Given the description of an element on the screen output the (x, y) to click on. 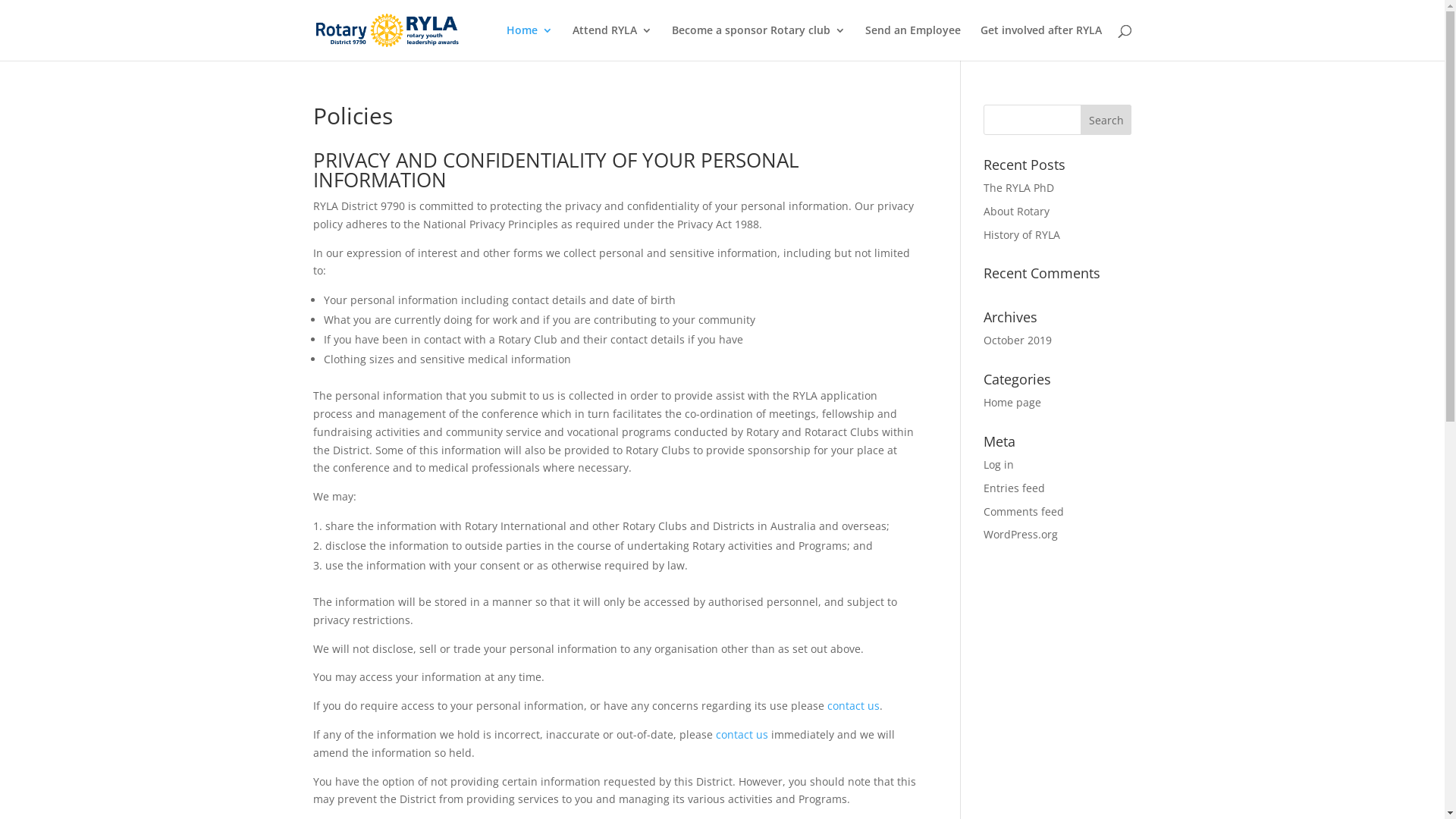
Entries feed Element type: text (1013, 487)
Search Element type: text (1106, 119)
Attend RYLA Element type: text (611, 42)
contact us Element type: text (741, 734)
WordPress.org Element type: text (1020, 534)
Send an Employee Element type: text (912, 42)
Become a sponsor Rotary club Element type: text (758, 42)
Home page Element type: text (1012, 402)
Comments feed Element type: text (1023, 511)
contact us Element type: text (852, 705)
Home Element type: text (529, 42)
About Rotary Element type: text (1016, 210)
The RYLA PhD Element type: text (1018, 187)
History of RYLA Element type: text (1021, 234)
Get involved after RYLA Element type: text (1040, 42)
October 2019 Element type: text (1017, 339)
Log in Element type: text (998, 464)
